Given the description of an element on the screen output the (x, y) to click on. 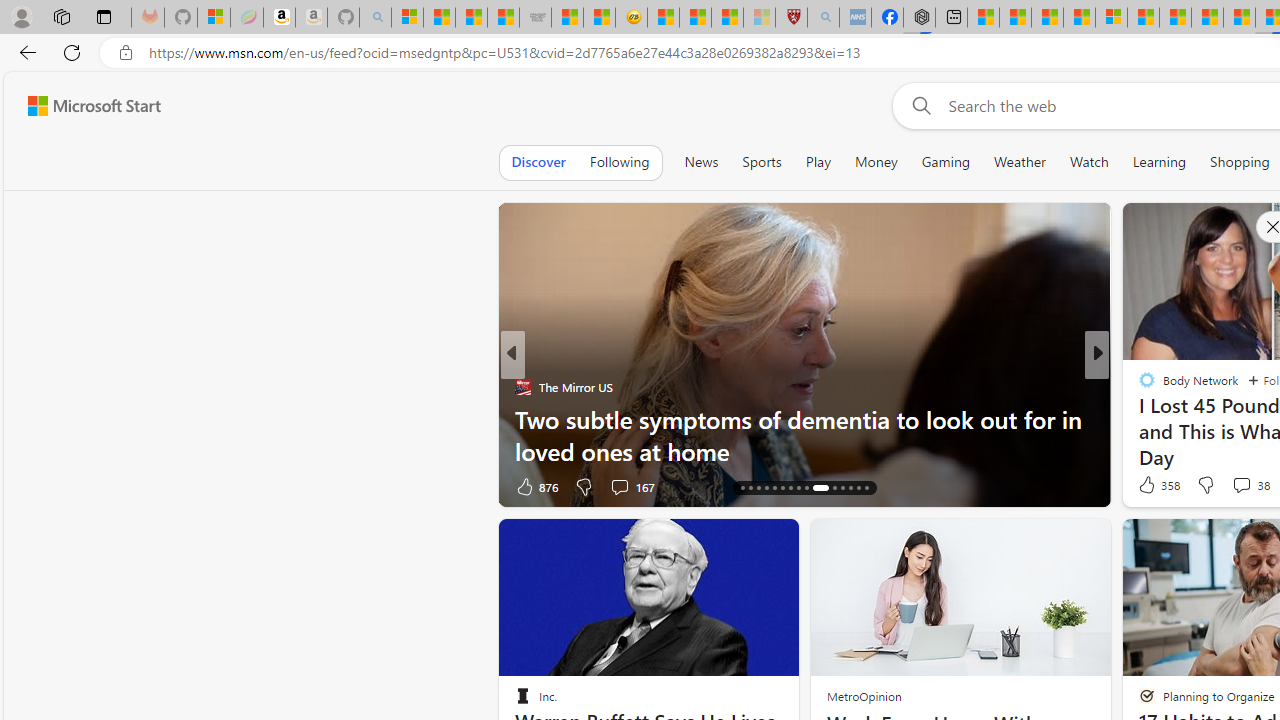
Web search (917, 105)
New tab (950, 17)
AutomationID: tab-19 (765, 487)
